Given the description of an element on the screen output the (x, y) to click on. 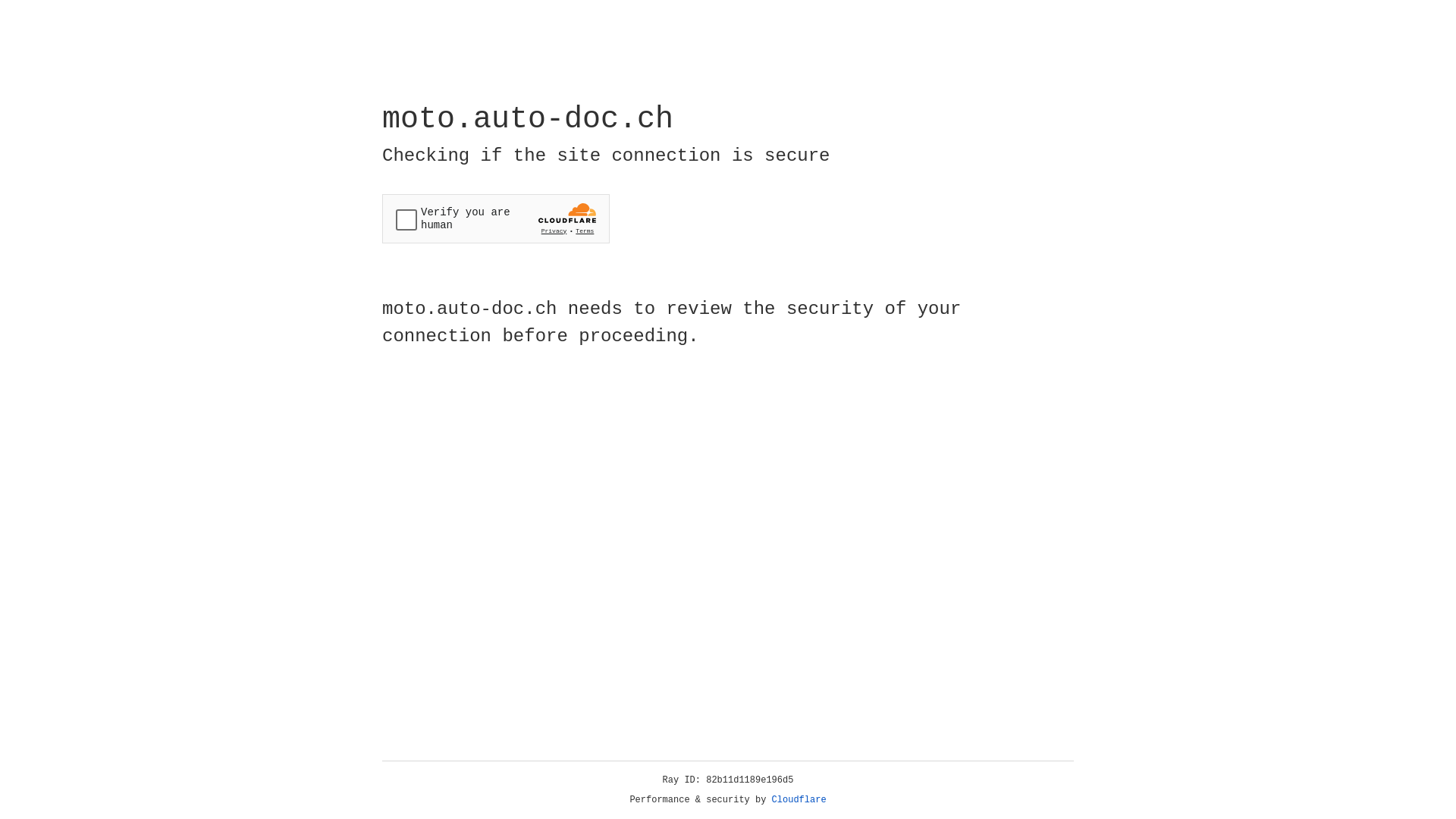
Cloudflare Element type: text (798, 799)
Widget containing a Cloudflare security challenge Element type: hover (495, 218)
